Given the description of an element on the screen output the (x, y) to click on. 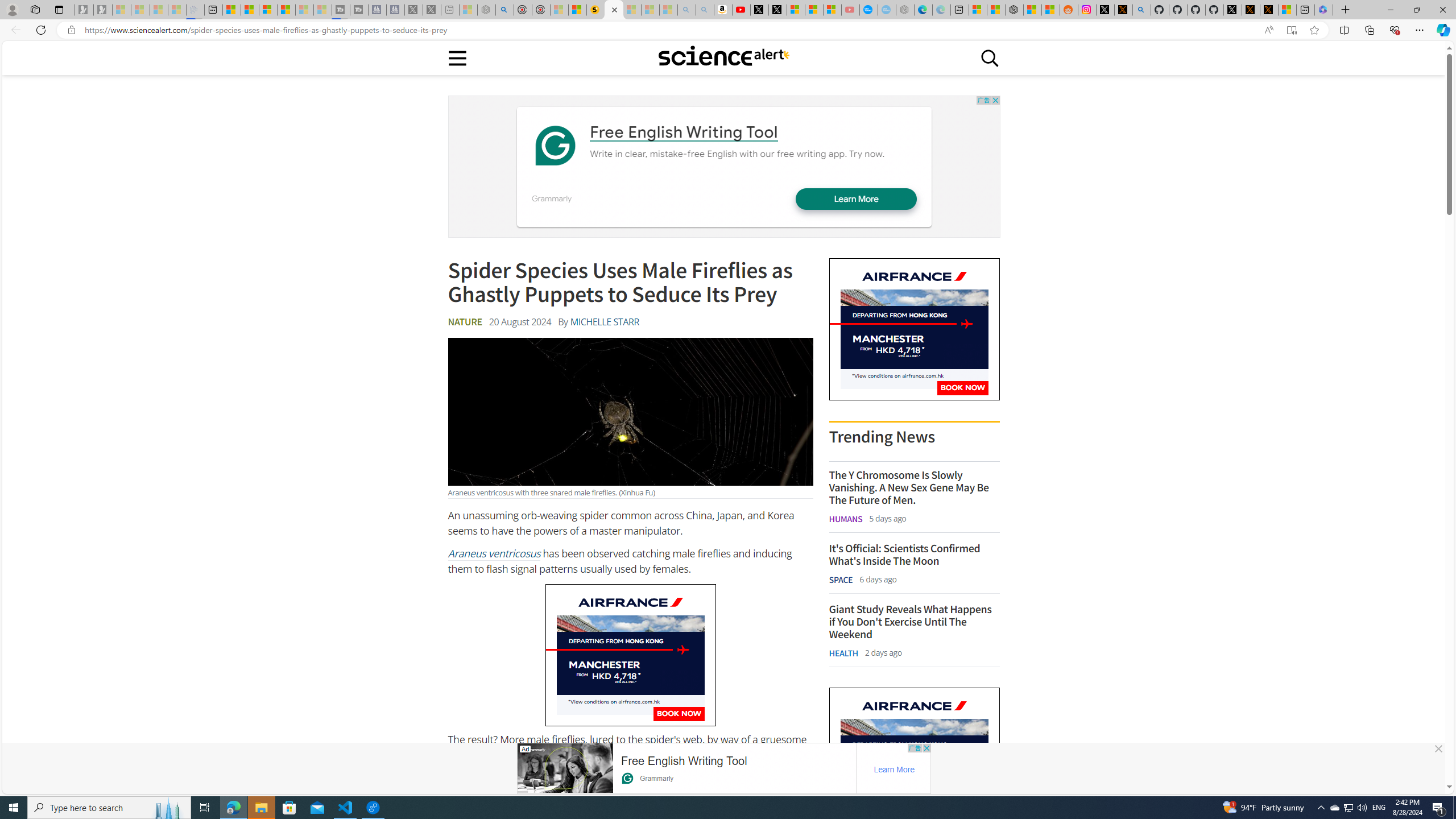
github - Search (1142, 9)
MICHELLE STARR (604, 321)
NATURE (463, 321)
